Given the description of an element on the screen output the (x, y) to click on. 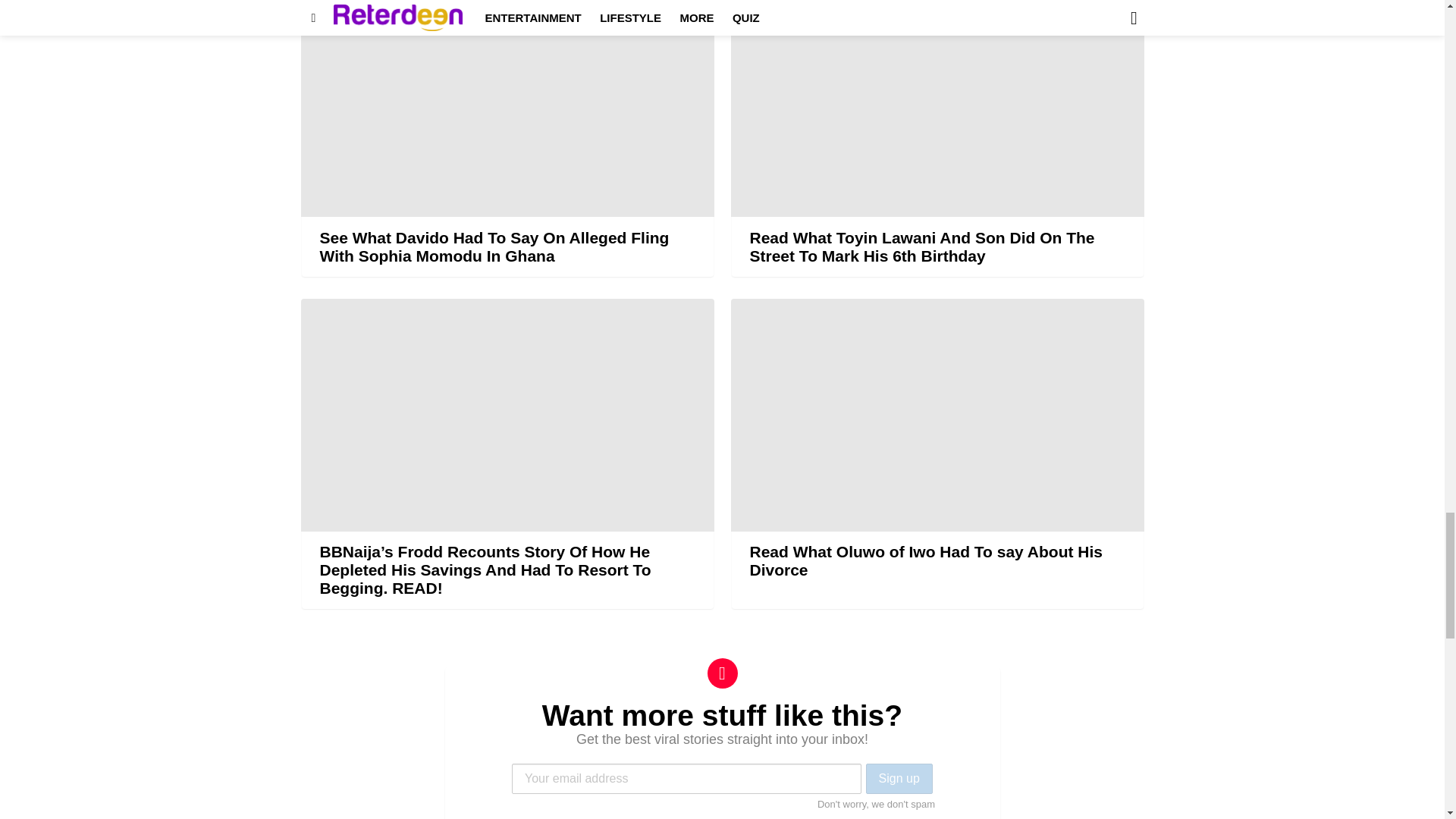
Sign up (899, 778)
